Given the description of an element on the screen output the (x, y) to click on. 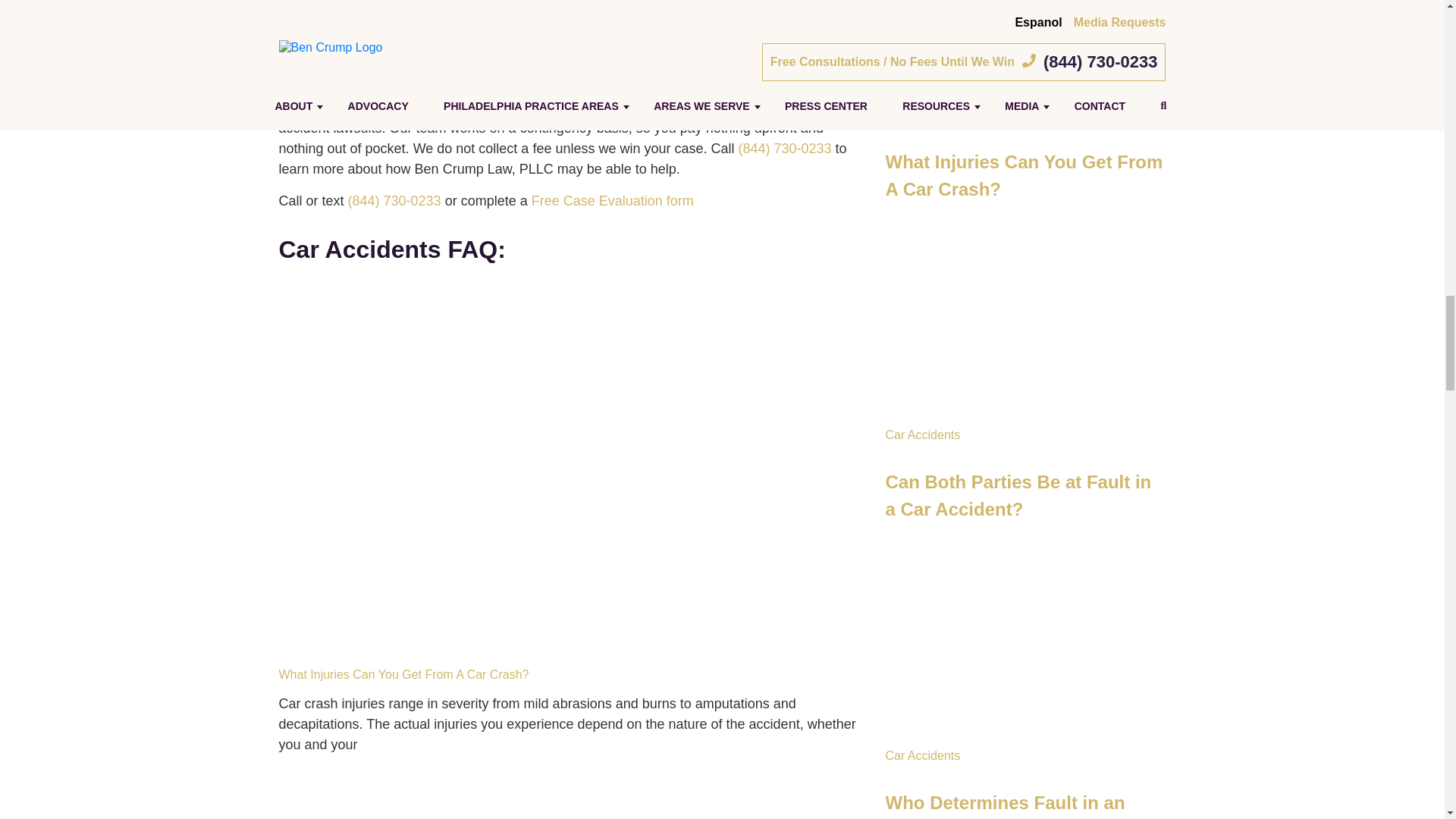
What Injuries Can You Get From A Car Crash? (1025, 274)
What Injuries Can You Get from a Car Crash? (1025, 320)
Who Determines Fault in an Auto Accident? (1025, 791)
Can Both Parties Be at Fault in a  Car Accident? (571, 792)
Can Both Parties Be at Fault in a  Car Accident? (1025, 595)
